Given the description of an element on the screen output the (x, y) to click on. 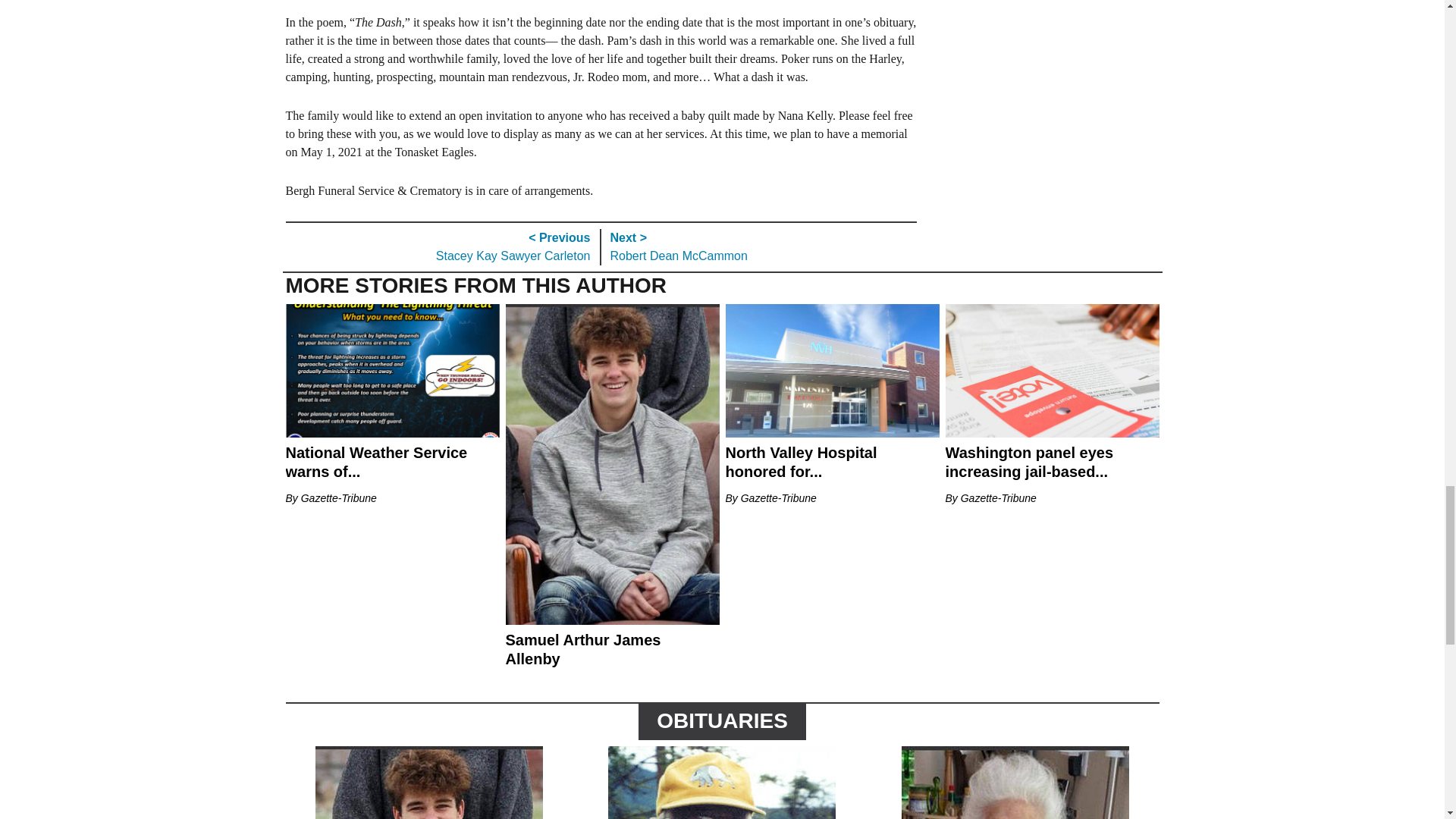
3rd party ad content (561, 6)
